Given the description of an element on the screen output the (x, y) to click on. 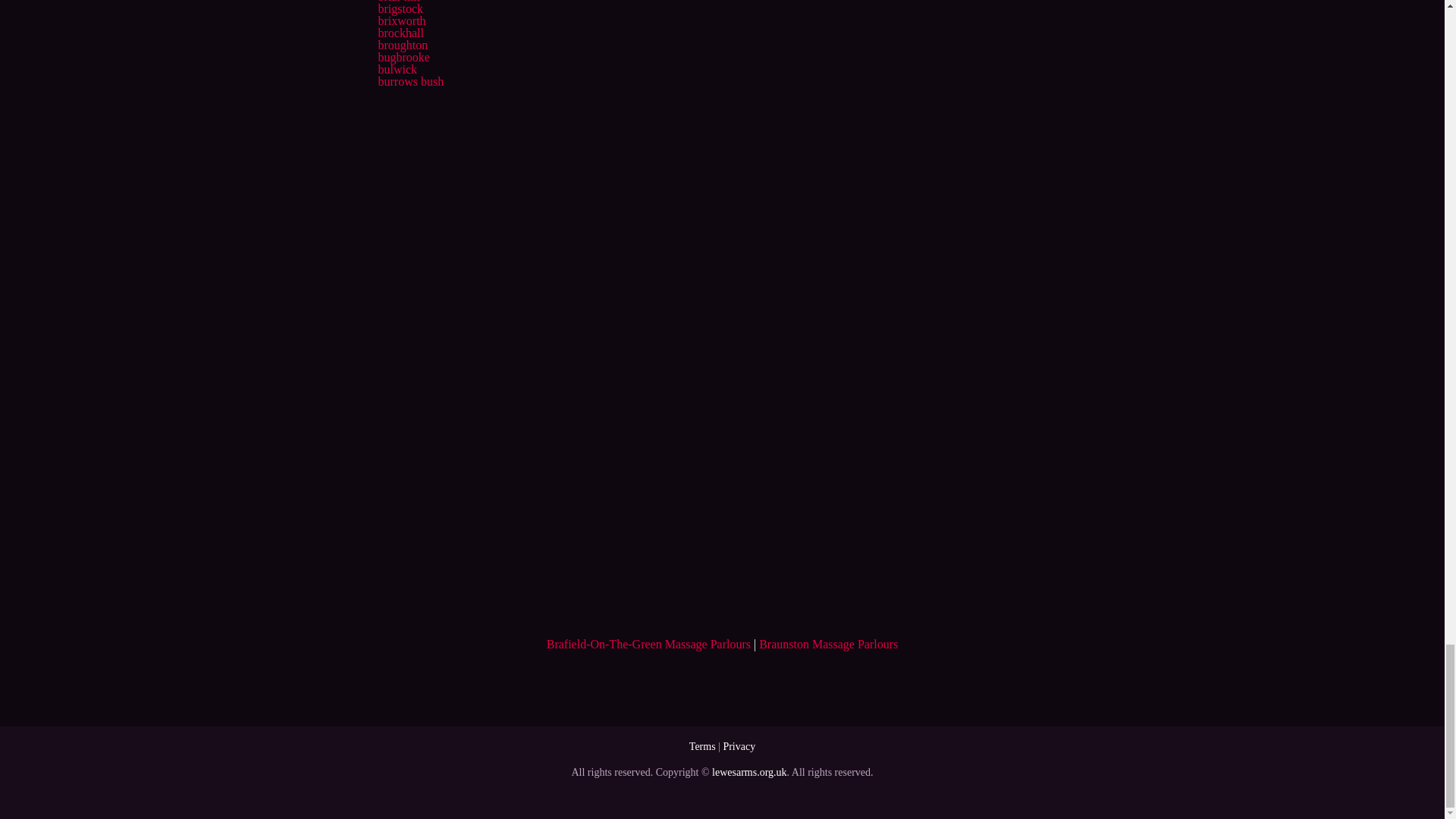
bugbrooke (403, 56)
broughton (402, 44)
bulwick (396, 69)
Terms (702, 746)
lewesarms.org.uk (749, 772)
brixworth (401, 20)
briar hill (398, 1)
brockhall (400, 32)
Brafield-On-The-Green Massage Parlours (649, 644)
brigstock (400, 8)
